Given the description of an element on the screen output the (x, y) to click on. 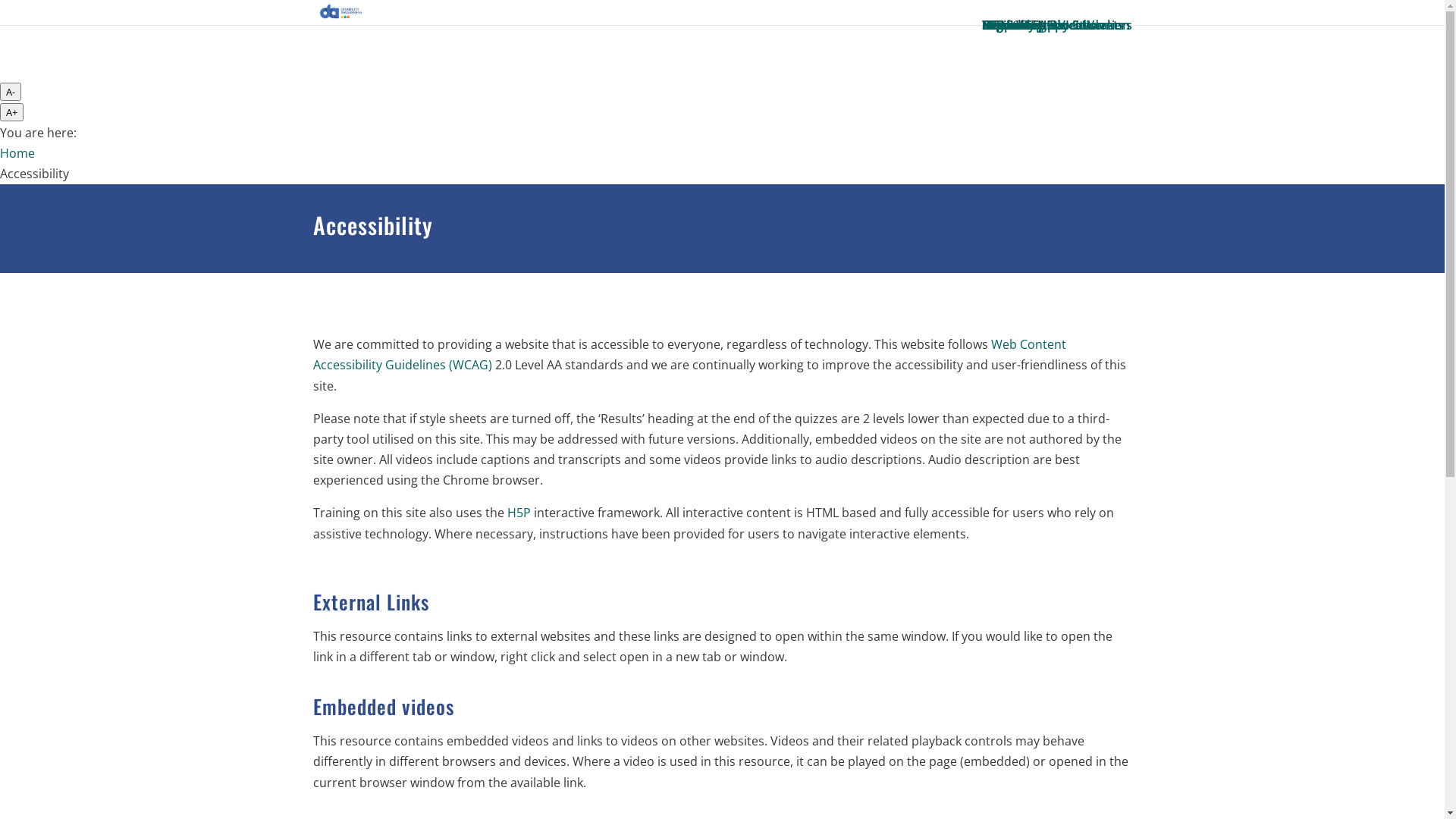
Home Element type: text (17, 152)
Web Content Accessibility Guidelines (WCAG) Element type: text (688, 354)
Disability Awareness Element type: text (1041, 24)
Skip to navigation Element type: text (140, 9)
H5P Element type: text (518, 512)
Skip to content Element type: text (43, 9)
e-Learning Element type: text (1011, 24)
UDL in Tertiary Education Element type: text (1055, 24)
Decrease Text Size
A- Element type: text (10, 91)
Supporting BVI Students Element type: text (1052, 24)
External Support Workers Element type: text (1056, 24)
Login Element type: text (997, 24)
Secondary Education Element type: text (1042, 24)
Register Element type: text (1004, 24)
Home Element type: text (998, 24)
Increase Text Size
A+ Element type: text (11, 112)
